Given the description of an element on the screen output the (x, y) to click on. 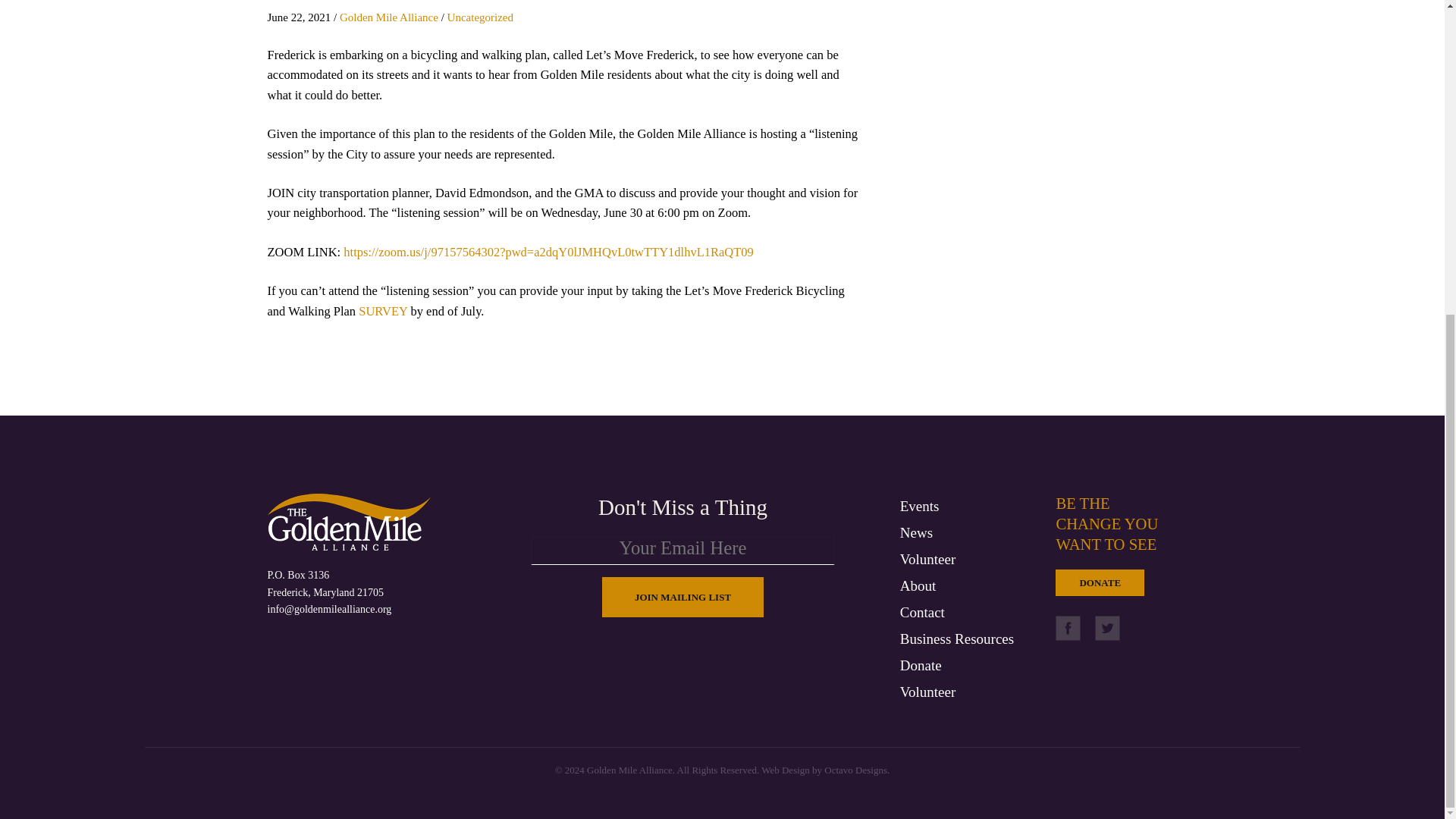
SURVEY (382, 310)
Golden Mile Alliance (388, 17)
Uncategorized (479, 17)
Posts by Golden Mile Alliance (388, 17)
